Given the description of an element on the screen output the (x, y) to click on. 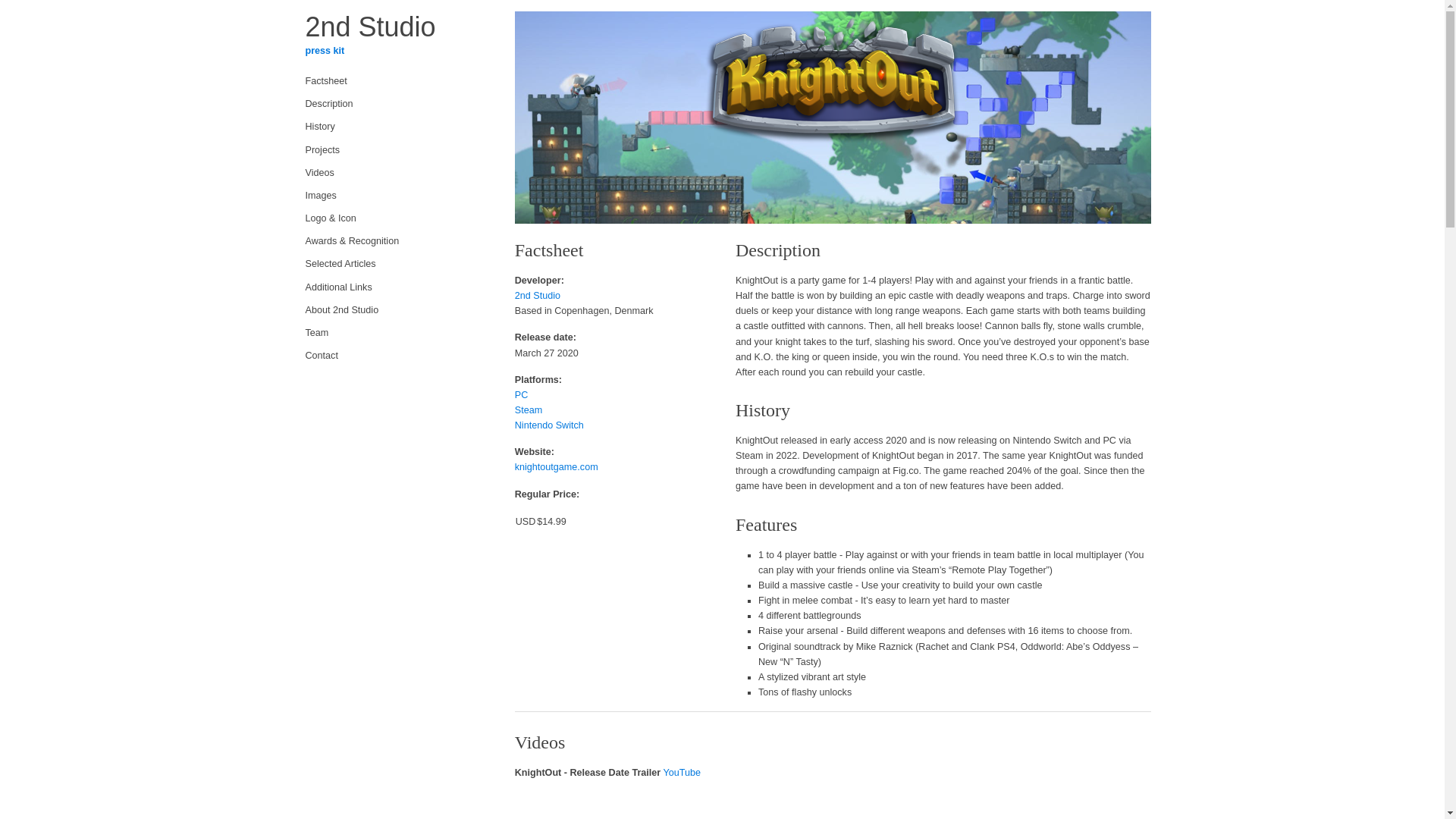
Steam Element type: text (528, 409)
About 2nd Studio Element type: text (391, 309)
Factsheet Element type: text (391, 80)
Logo & Icon Element type: text (391, 218)
Videos Element type: text (391, 172)
Additional Links Element type: text (391, 287)
Selected Articles Element type: text (391, 263)
Images Element type: text (391, 195)
PC Element type: text (521, 394)
Awards & Recognition Element type: text (391, 240)
2nd Studio Element type: text (537, 295)
History Element type: text (391, 126)
Projects Element type: text (391, 149)
Team Element type: text (391, 332)
Contact Element type: text (391, 355)
Nintendo Switch Element type: text (548, 425)
YouTube Element type: text (681, 772)
press kit Element type: text (325, 50)
knightoutgame.com Element type: text (556, 466)
Description Element type: text (391, 103)
